Given the description of an element on the screen output the (x, y) to click on. 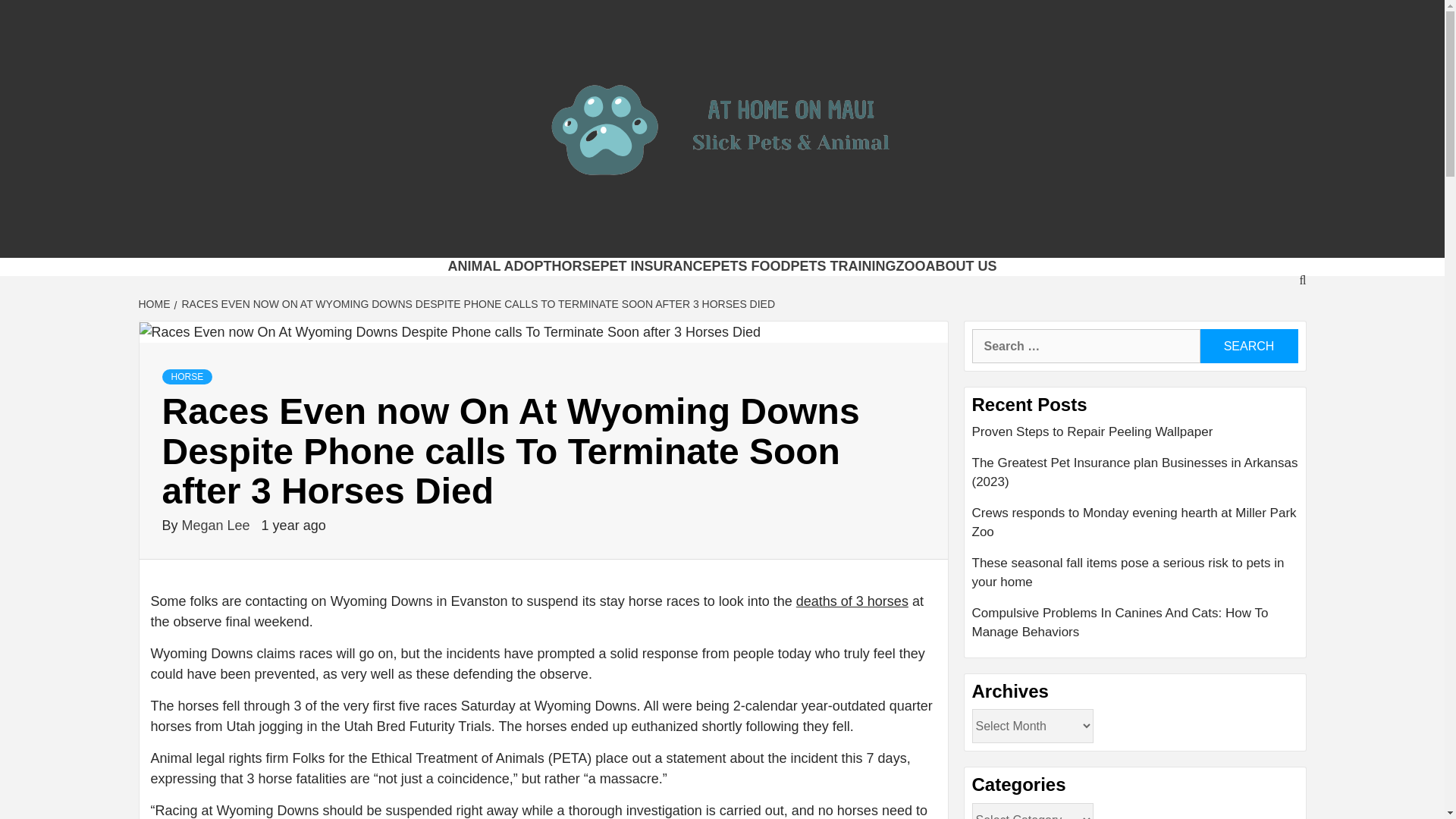
PETS TRAINING (843, 265)
Proven Steps to Repair Peeling Wallpaper (1135, 437)
ZOO (911, 265)
HORSE (575, 265)
PETS FOOD (750, 265)
PET INSURANCE (655, 265)
Search (1248, 346)
ABOUT US (961, 265)
HORSE (186, 376)
Search (1248, 346)
ANIMAL ADOPT (498, 265)
AT HOME ON MAUI (489, 238)
Megan Lee (217, 525)
Search (1248, 346)
